Given the description of an element on the screen output the (x, y) to click on. 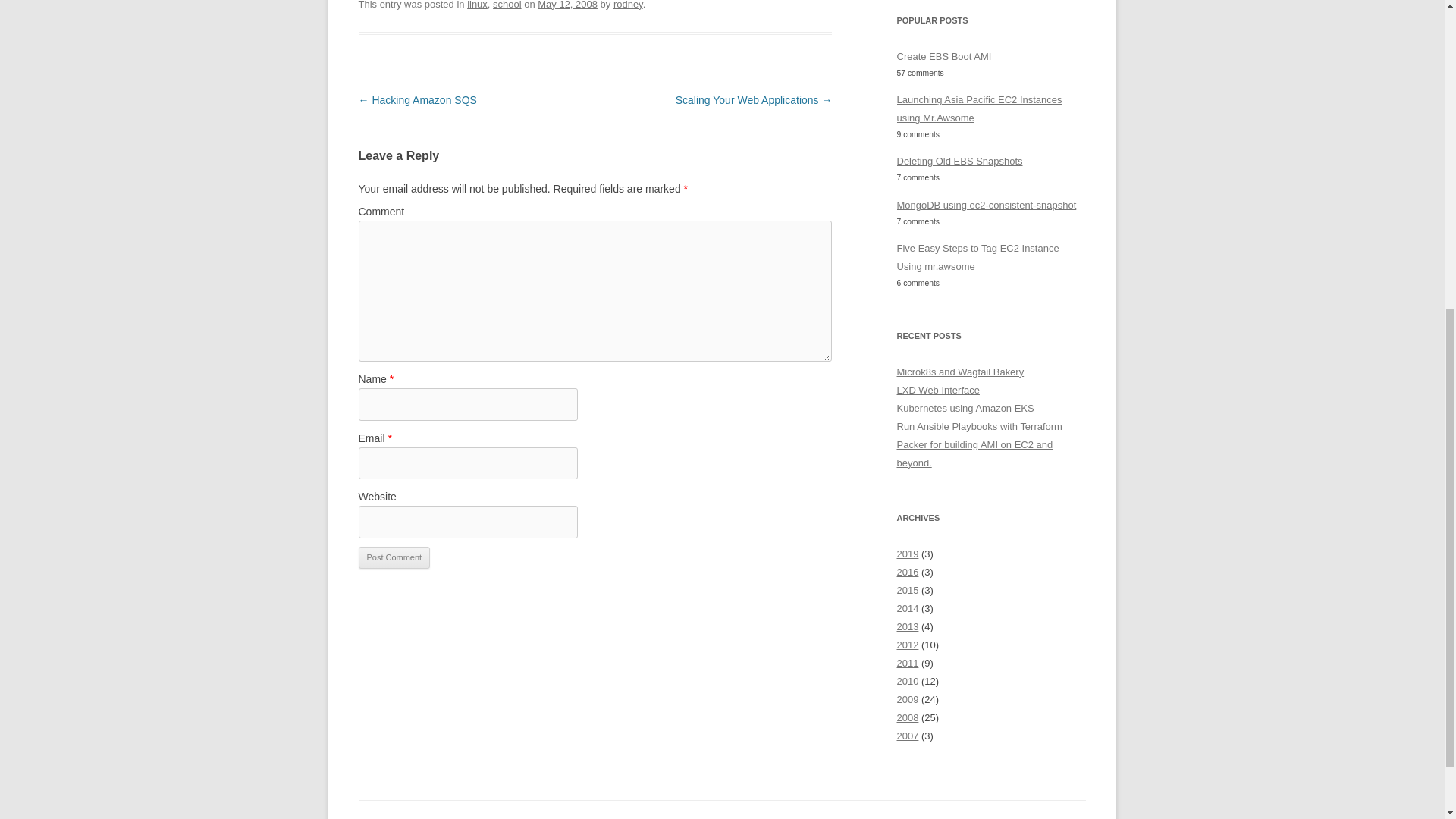
May 12, 2008 (566, 4)
9:01 pm (566, 4)
View all posts by rodney (627, 4)
rodney (627, 4)
linux (477, 4)
Post Comment (393, 558)
school (507, 4)
Post Comment (393, 558)
